Given the description of an element on the screen output the (x, y) to click on. 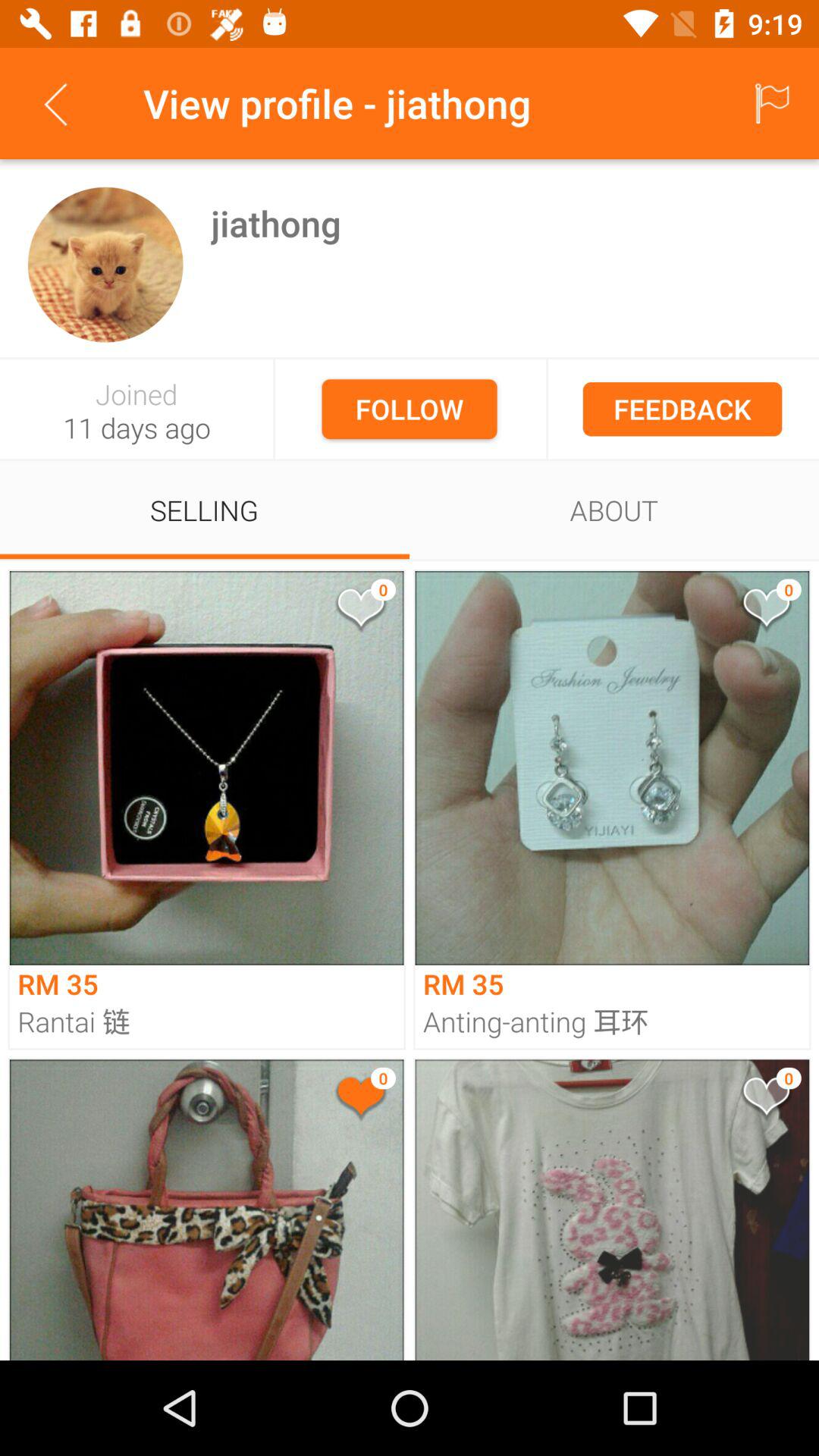
like the item (765, 1099)
